Given the description of an element on the screen output the (x, y) to click on. 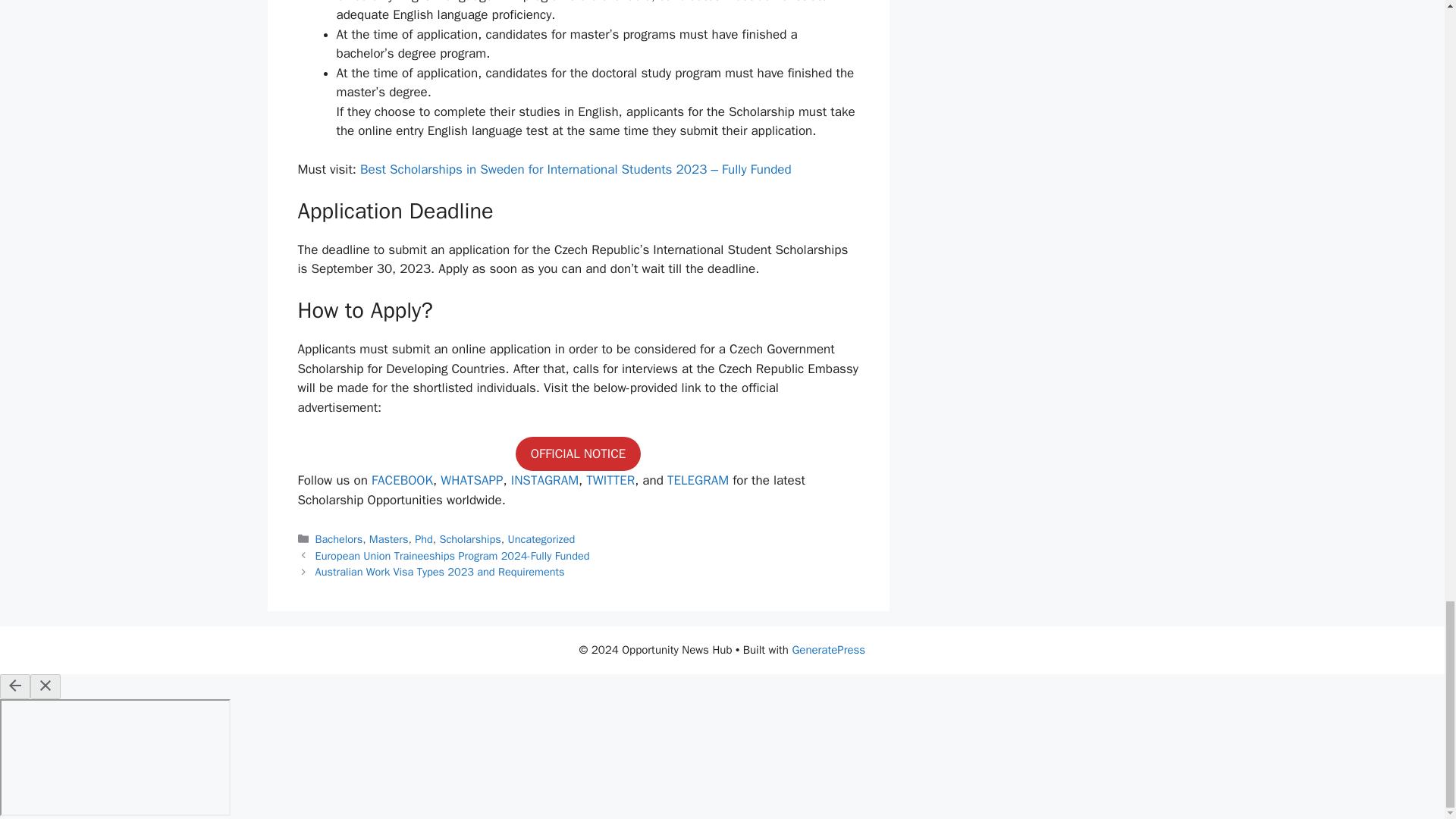
 FACEBOOK (400, 480)
Uncategorized (540, 539)
INSTAGRAM (544, 480)
TELEGRAM (697, 480)
OFFICIAL NOTICE (577, 453)
Phd (423, 539)
Scholarships (469, 539)
European Union Traineeships Program 2024-Fully Funded (452, 555)
Masters (389, 539)
Bachelors (338, 539)
TWITTER (610, 480)
WHATSAPP (471, 480)
Australian Work Visa Types 2023 and Requirements (439, 571)
